Given the description of an element on the screen output the (x, y) to click on. 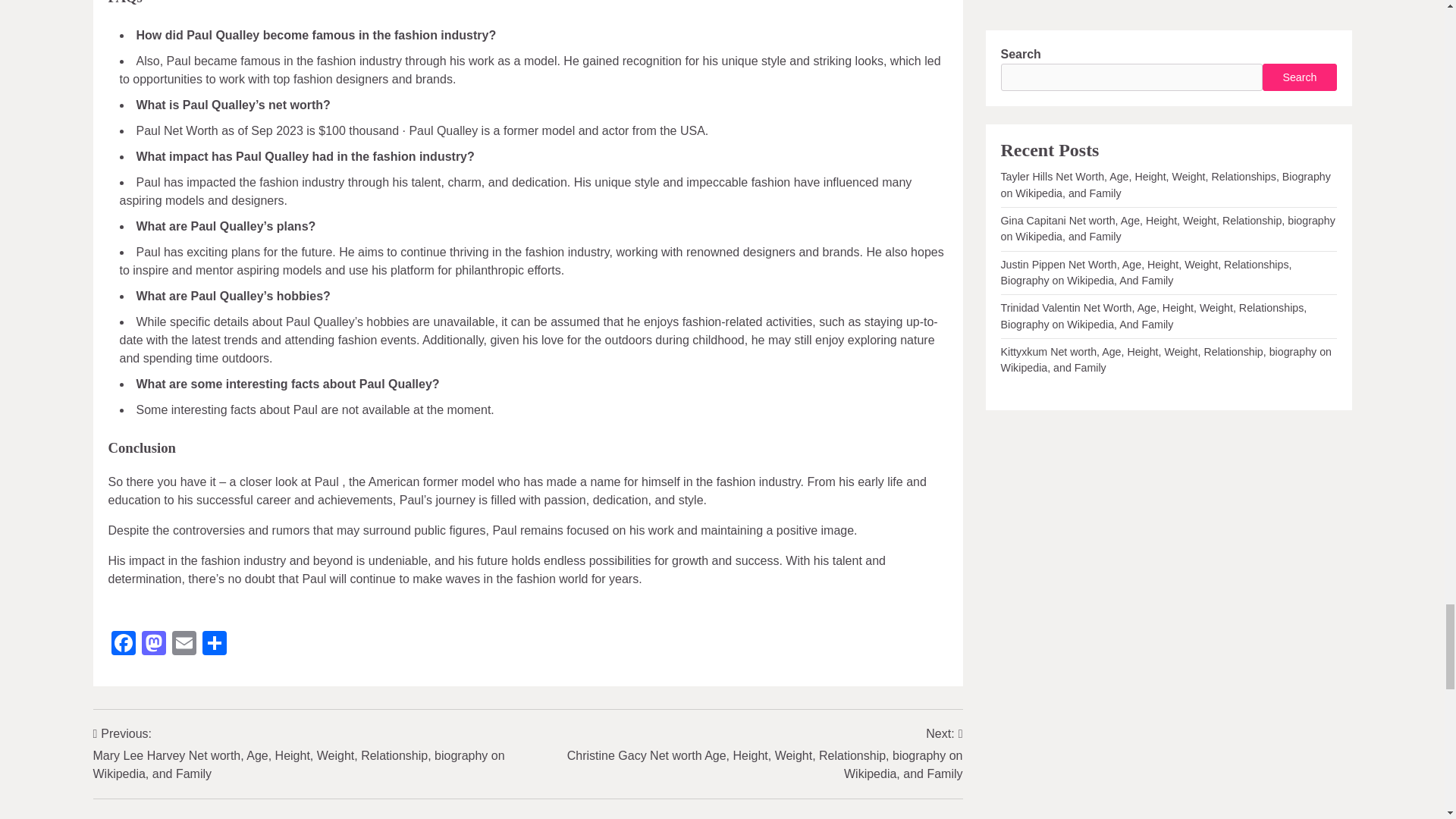
Mastodon (153, 644)
Email (183, 644)
Mastodon (153, 644)
Share (213, 644)
Facebook (122, 644)
Email (183, 644)
Facebook (122, 644)
